Given the description of an element on the screen output the (x, y) to click on. 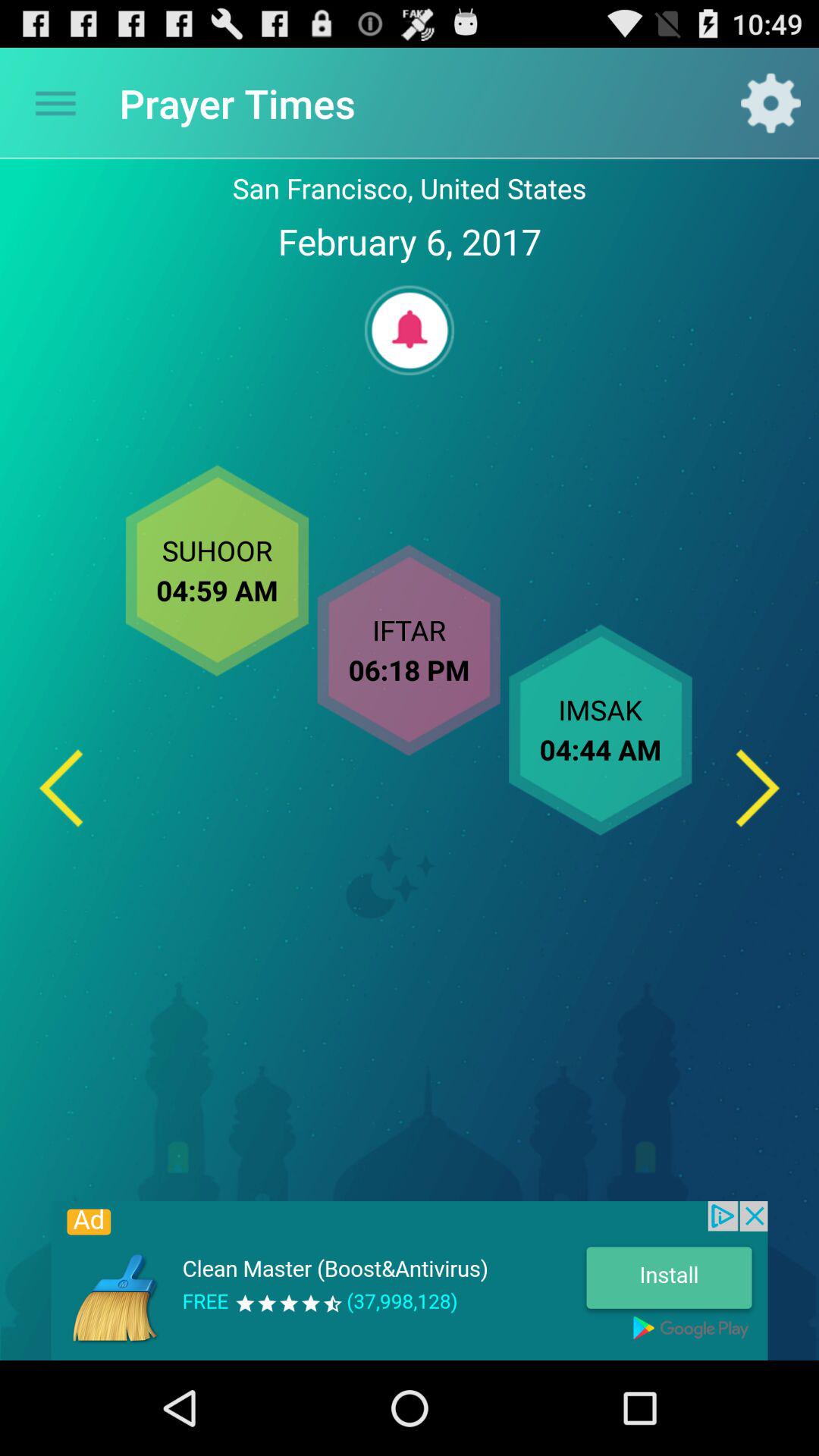
click to the next option (757, 787)
